Given the description of an element on the screen output the (x, y) to click on. 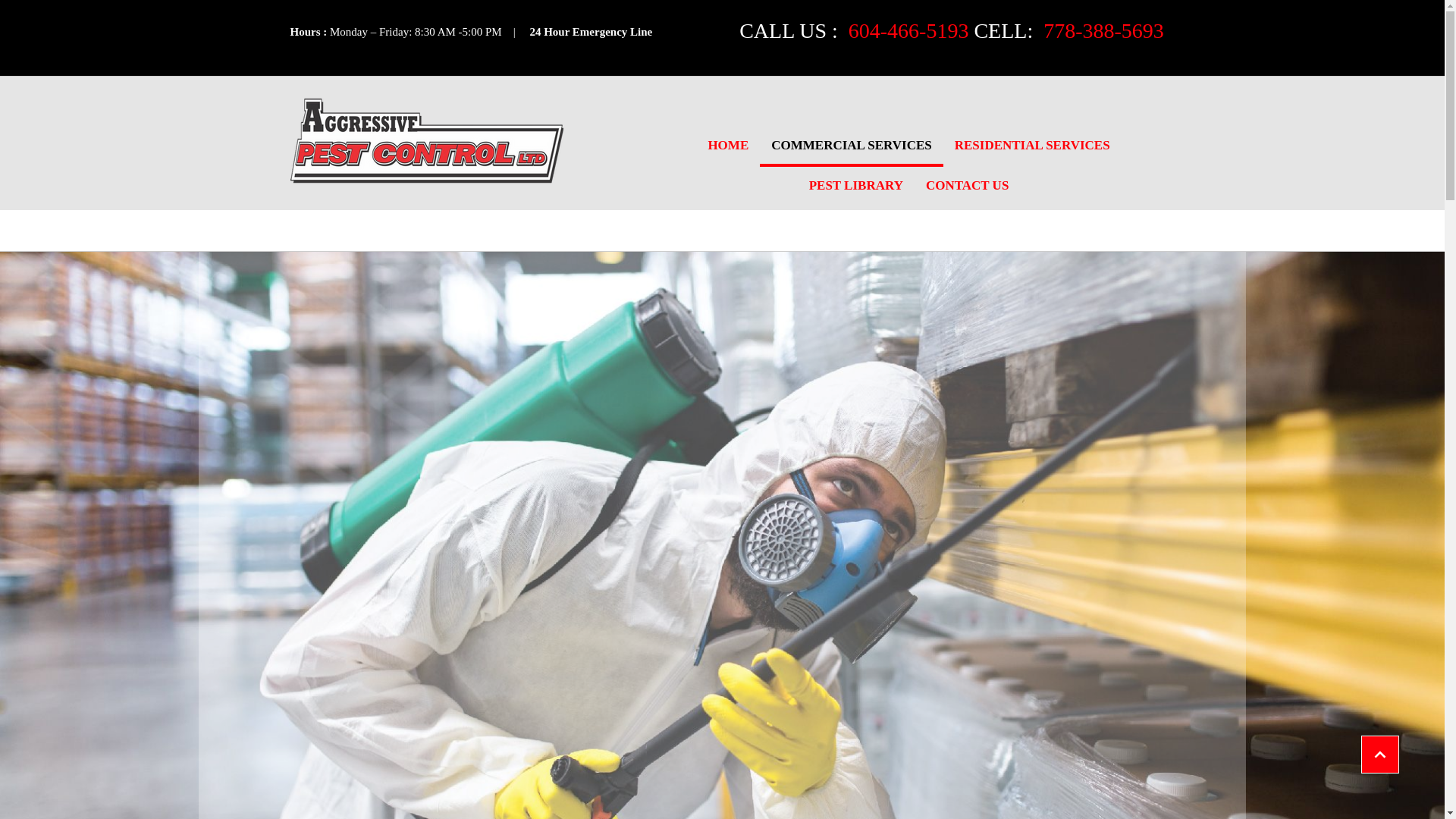
CONTACT US (967, 187)
HOME (727, 146)
PEST LIBRARY (855, 187)
604-466-5193 (906, 30)
COMMERCIAL SERVICES (851, 146)
778-388-5693 (1100, 30)
RESIDENTIAL SERVICES (1032, 146)
